Given the description of an element on the screen output the (x, y) to click on. 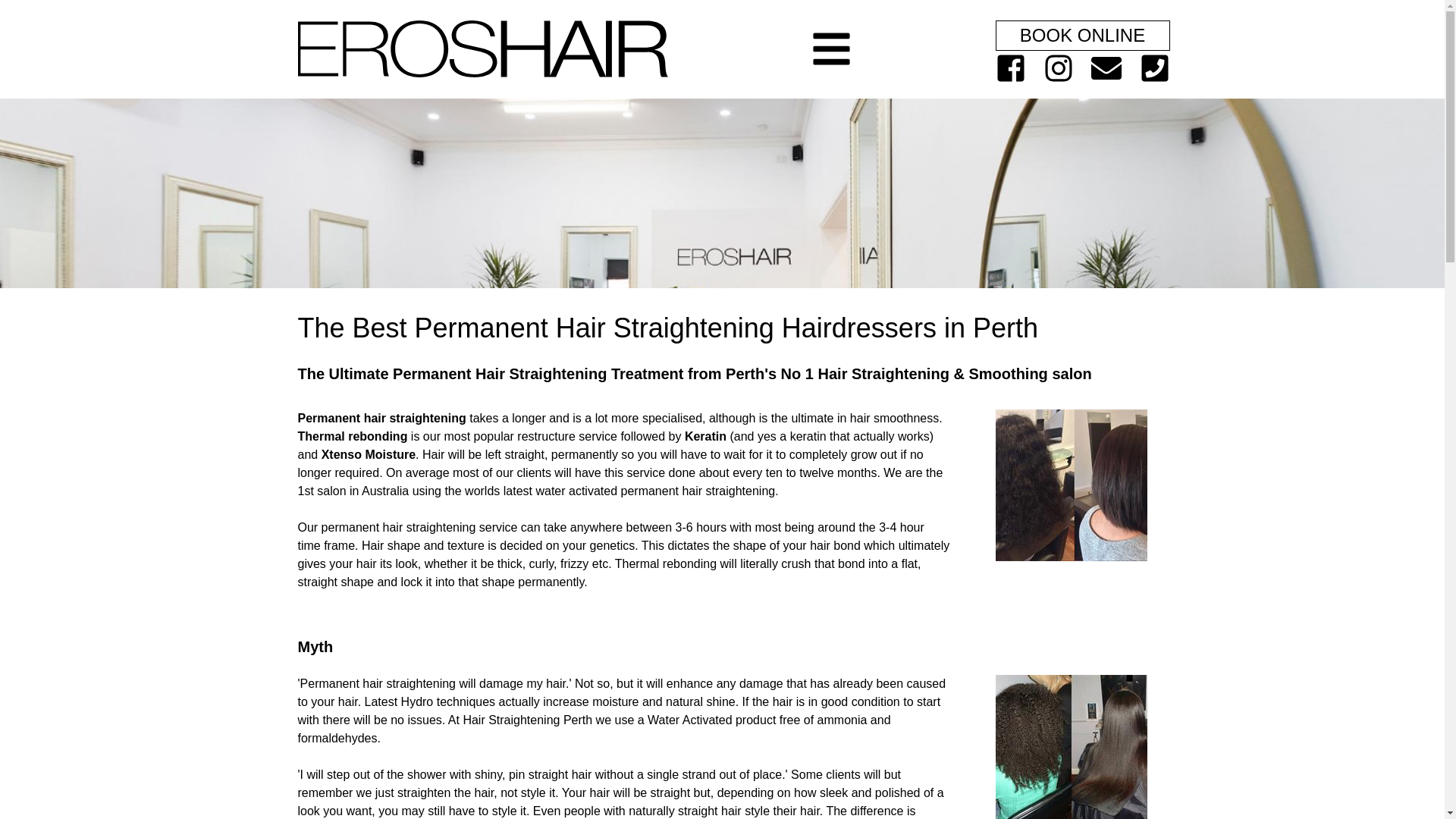
BOOK ONLINE Element type: text (1081, 35)
